Given the description of an element on the screen output the (x, y) to click on. 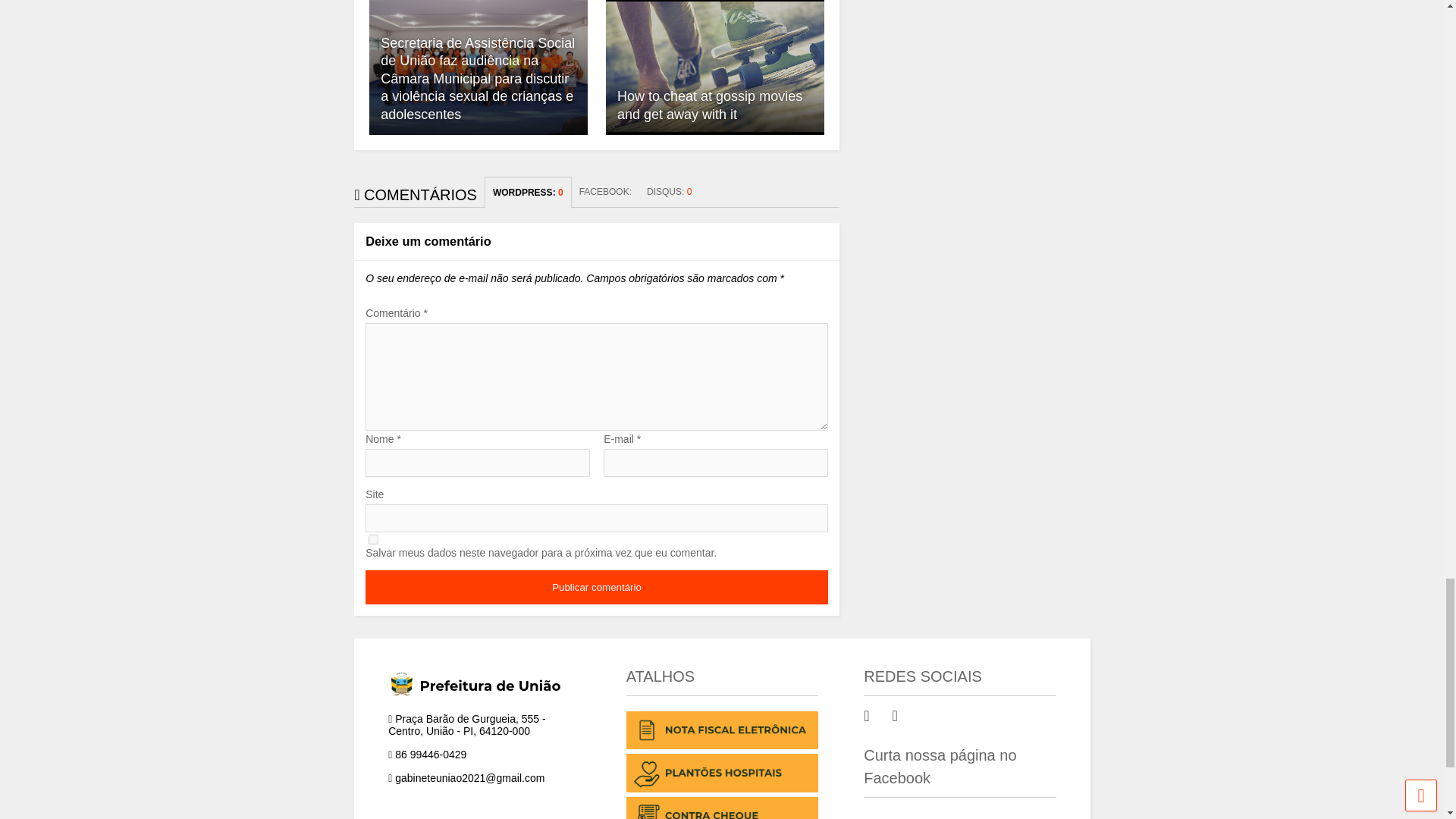
DISQUS: 0 (668, 191)
WORDPRESS: 0 (528, 192)
How to cheat at gossip movies and get away with it (709, 104)
Click to read (714, 67)
yes (373, 539)
Click to read (478, 67)
FACEBOOK: (605, 191)
How to cheat at gossip movies and get away with it (714, 66)
